Given the description of an element on the screen output the (x, y) to click on. 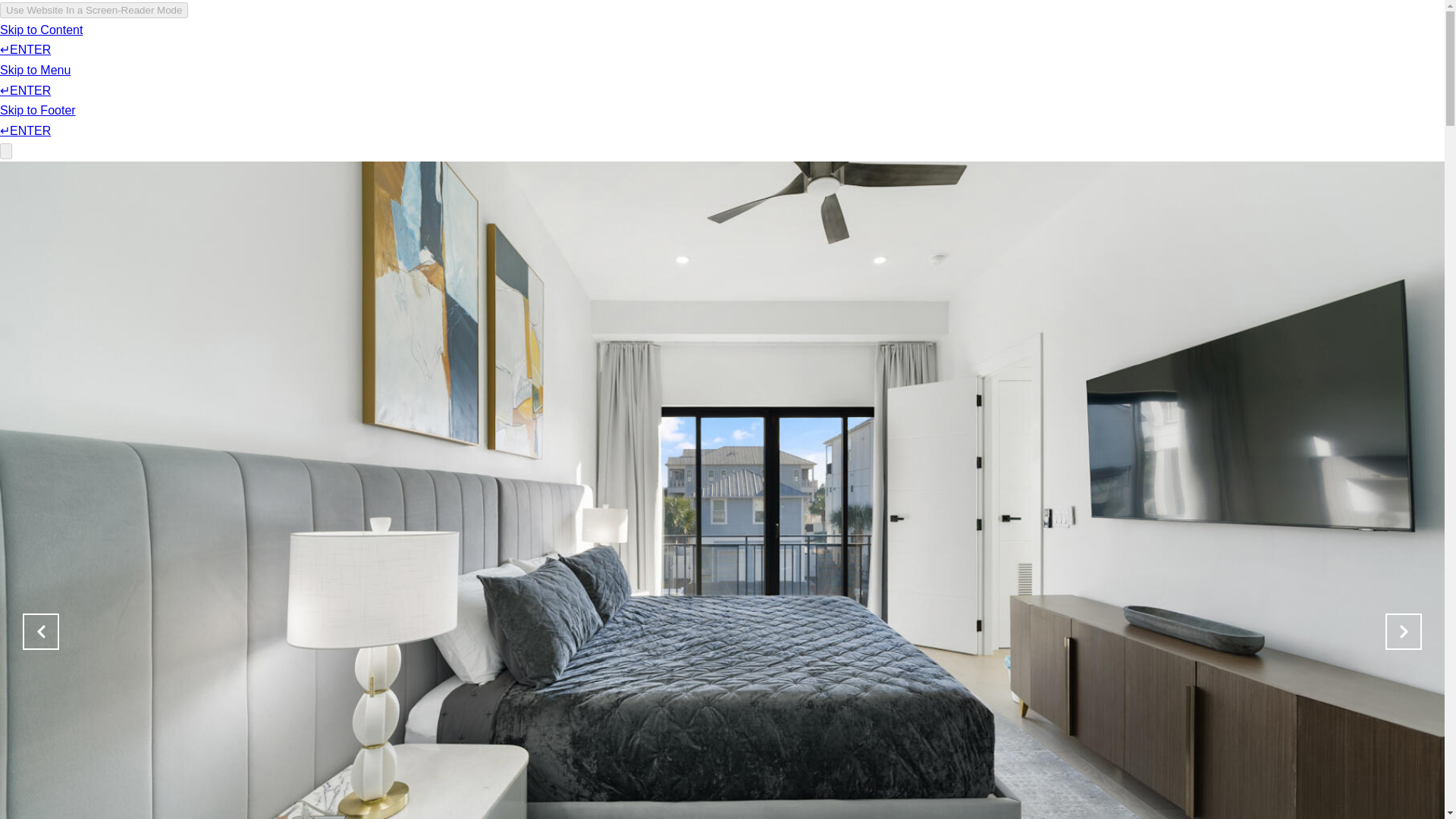
FEATURED PROPERTIES (697, 55)
CONTACT US (1054, 55)
NEIGHBORHOODS (945, 55)
HOME SEARCH (830, 55)
